Given the description of an element on the screen output the (x, y) to click on. 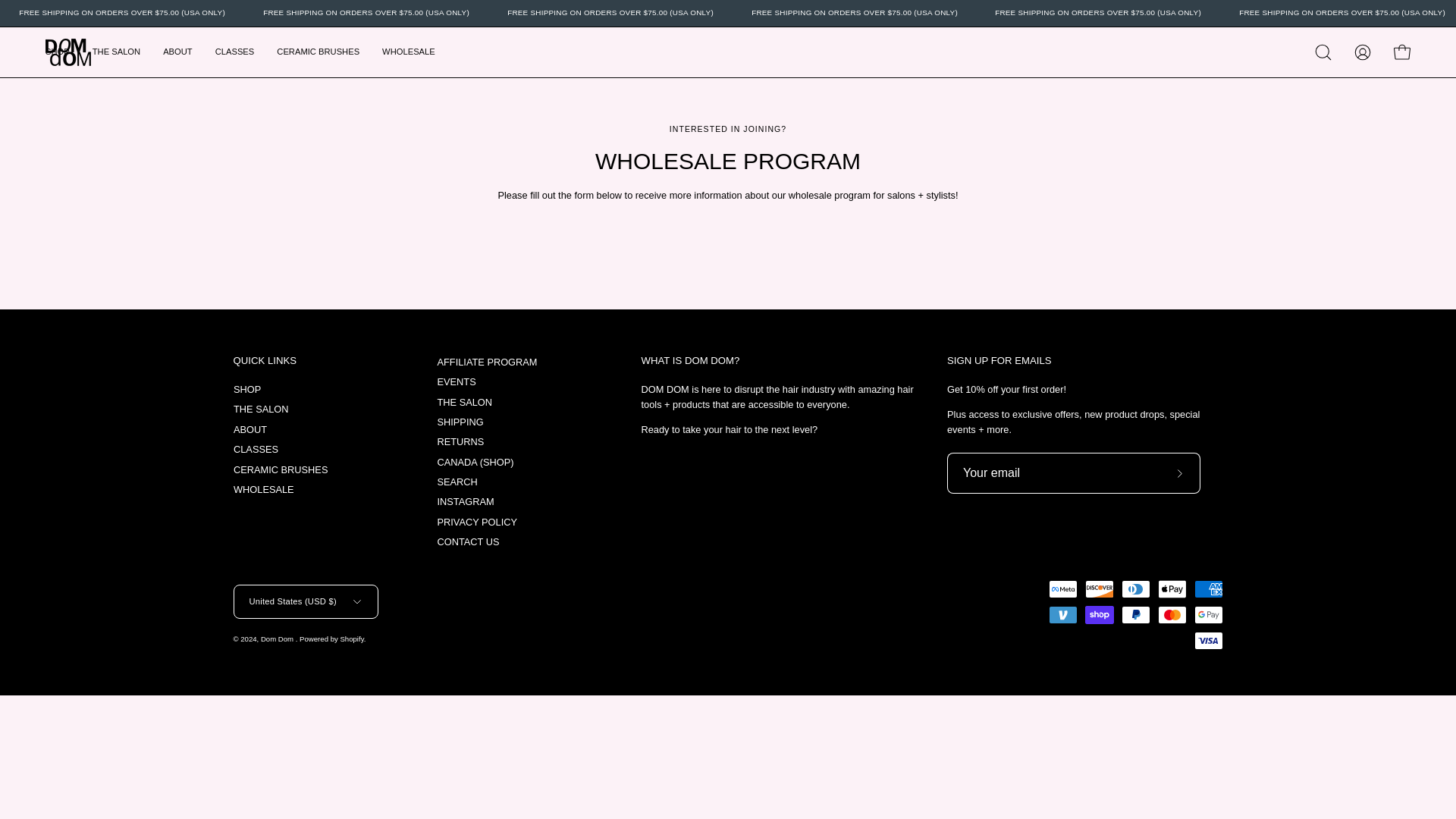
Open search bar (1323, 51)
